Given the description of an element on the screen output the (x, y) to click on. 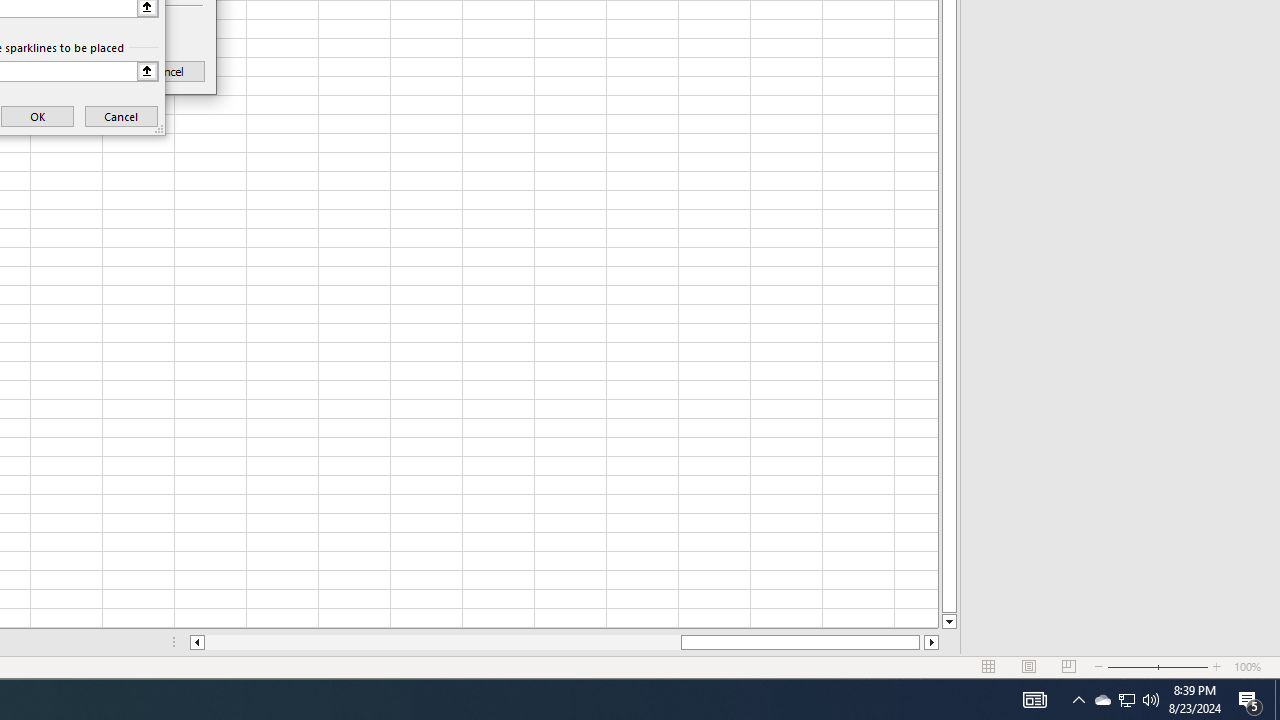
OK (75, 70)
Cancel (168, 70)
